Given the description of an element on the screen output the (x, y) to click on. 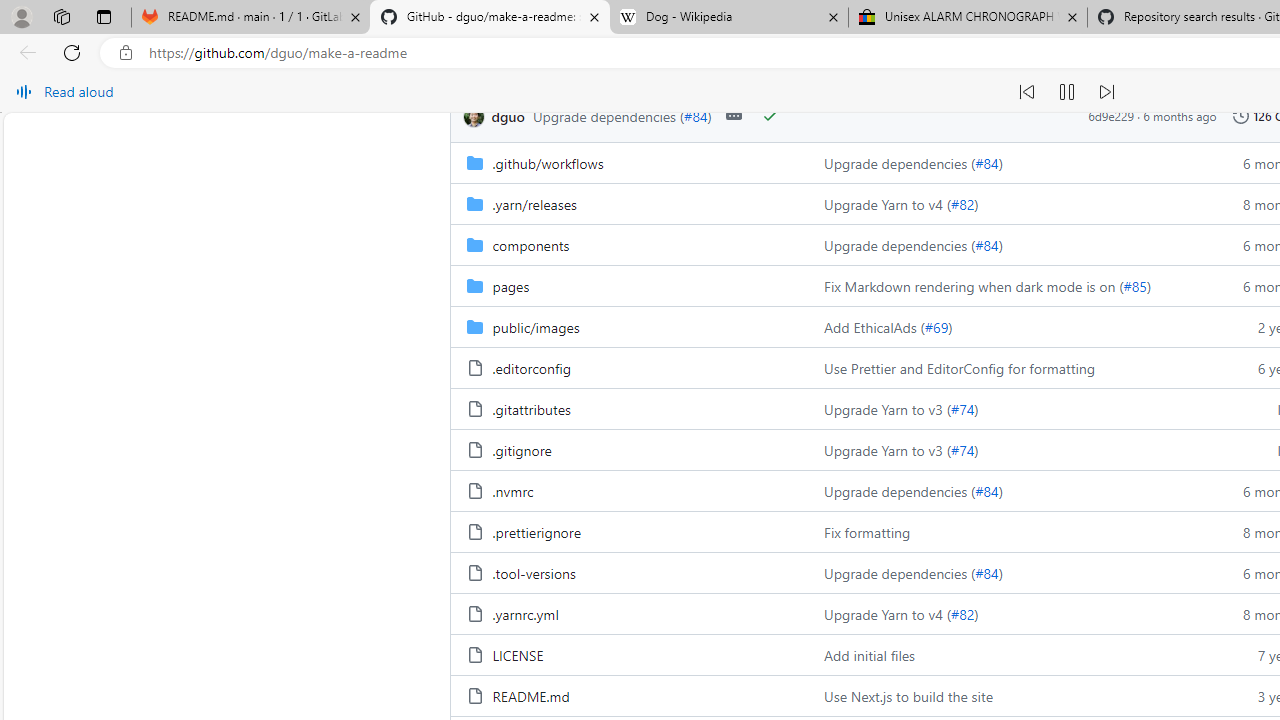
components, (Directory) (530, 244)
dguo (473, 116)
.github/workflows, (Directory) (547, 162)
.gitignore, (File) (521, 449)
Add EthicalAds ( (874, 326)
success (769, 116)
.nvmrc, (File) (629, 490)
Fix Markdown rendering when dark mode is on (#85) (1008, 285)
.gitignore, (File) (629, 449)
pages, (Directory) (629, 285)
Add initial files (1008, 654)
Read next paragraph (1105, 92)
Continue to read aloud (Ctrl+Shift+U) (1065, 92)
.github/workflows, (Directory) (629, 161)
